Given the description of an element on the screen output the (x, y) to click on. 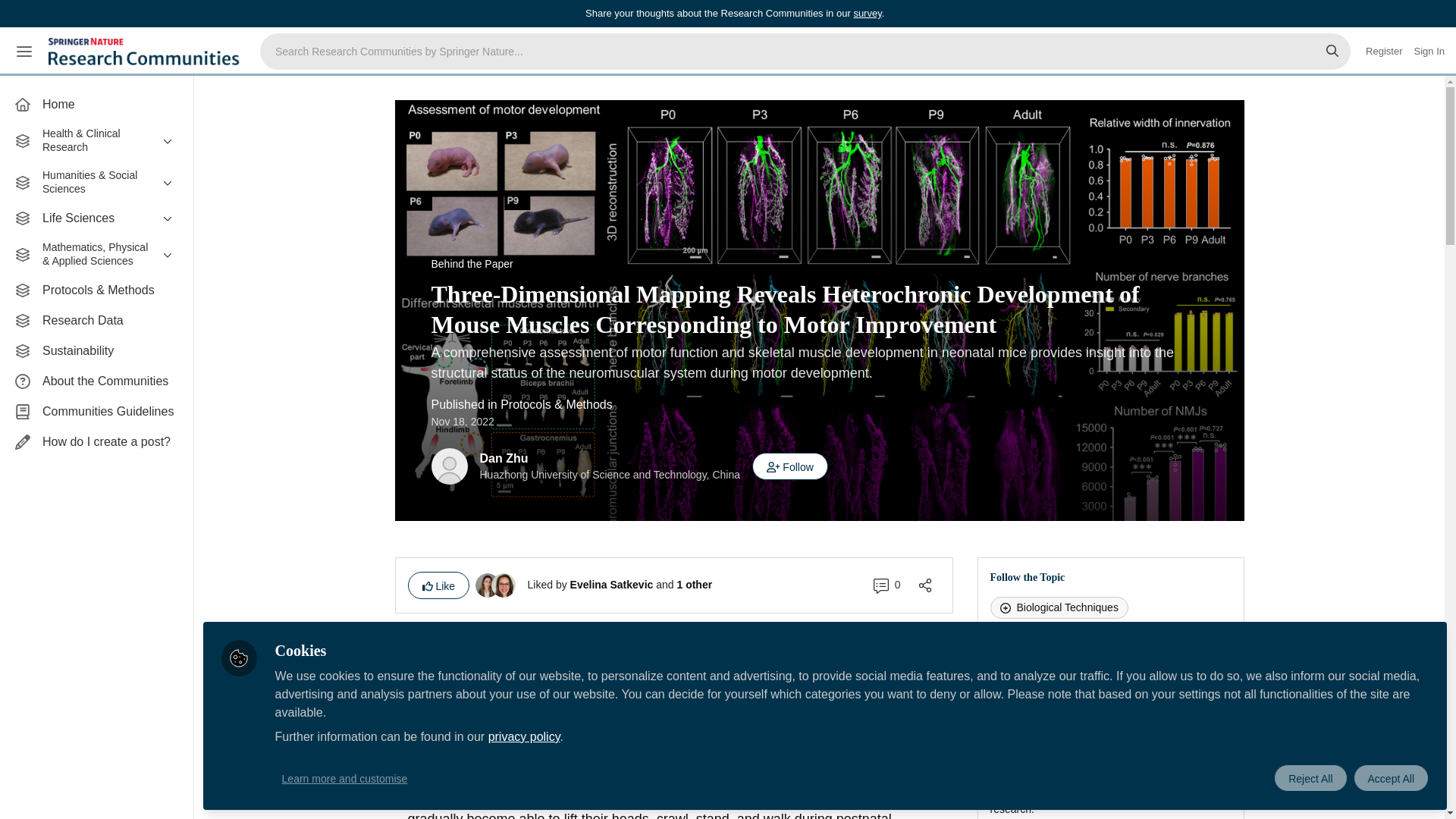
Home (96, 103)
survey (866, 12)
Search (1332, 51)
Life Sciences (96, 217)
Menu (24, 51)
Home (96, 103)
Life Sciences (96, 217)
Research Communities by Springer Nature (146, 51)
